Given the description of an element on the screen output the (x, y) to click on. 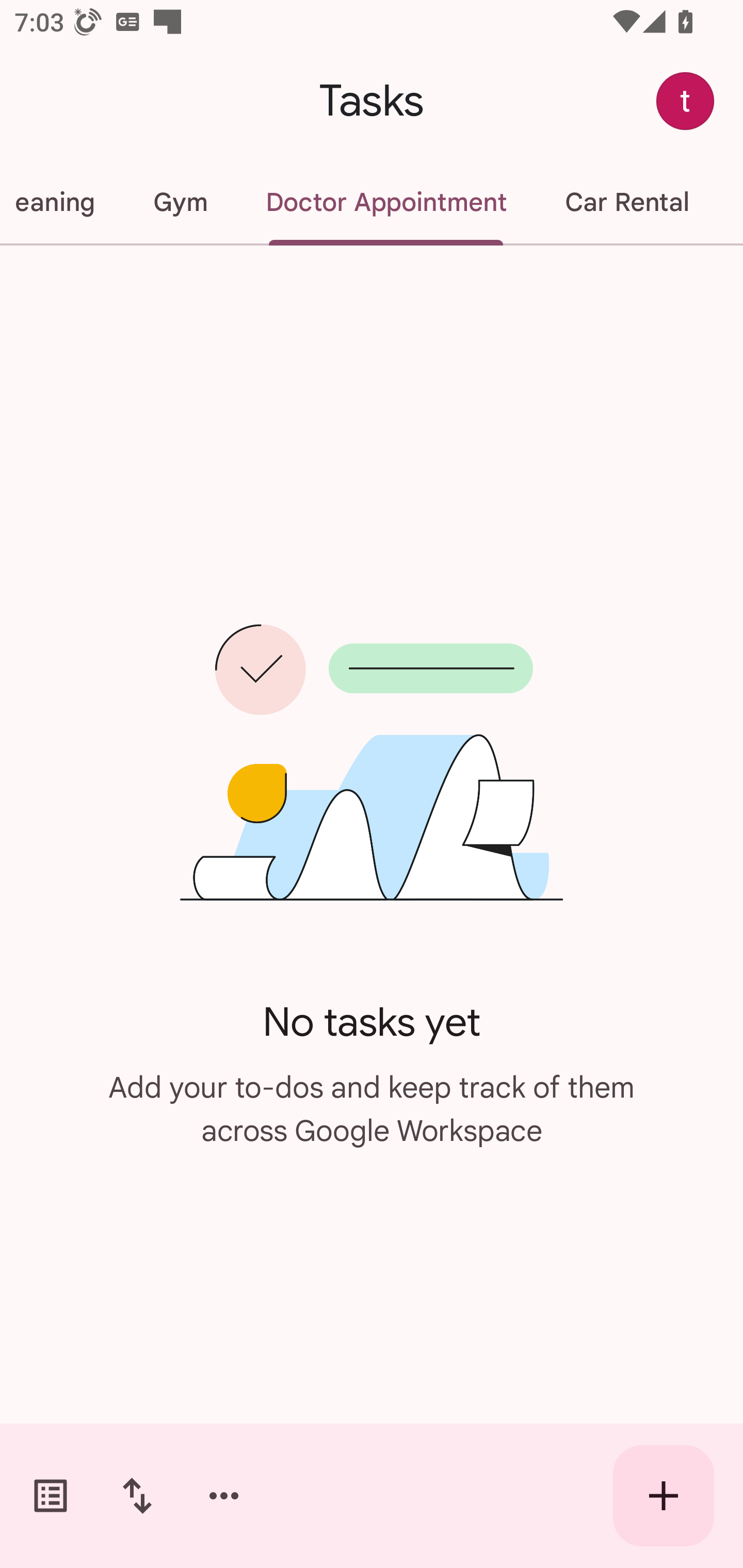
Cleaning (62, 202)
Gym (180, 202)
Car Rental (626, 202)
Switch task lists (50, 1495)
Create new task (663, 1495)
Change sort order (136, 1495)
More options (223, 1495)
